Given the description of an element on the screen output the (x, y) to click on. 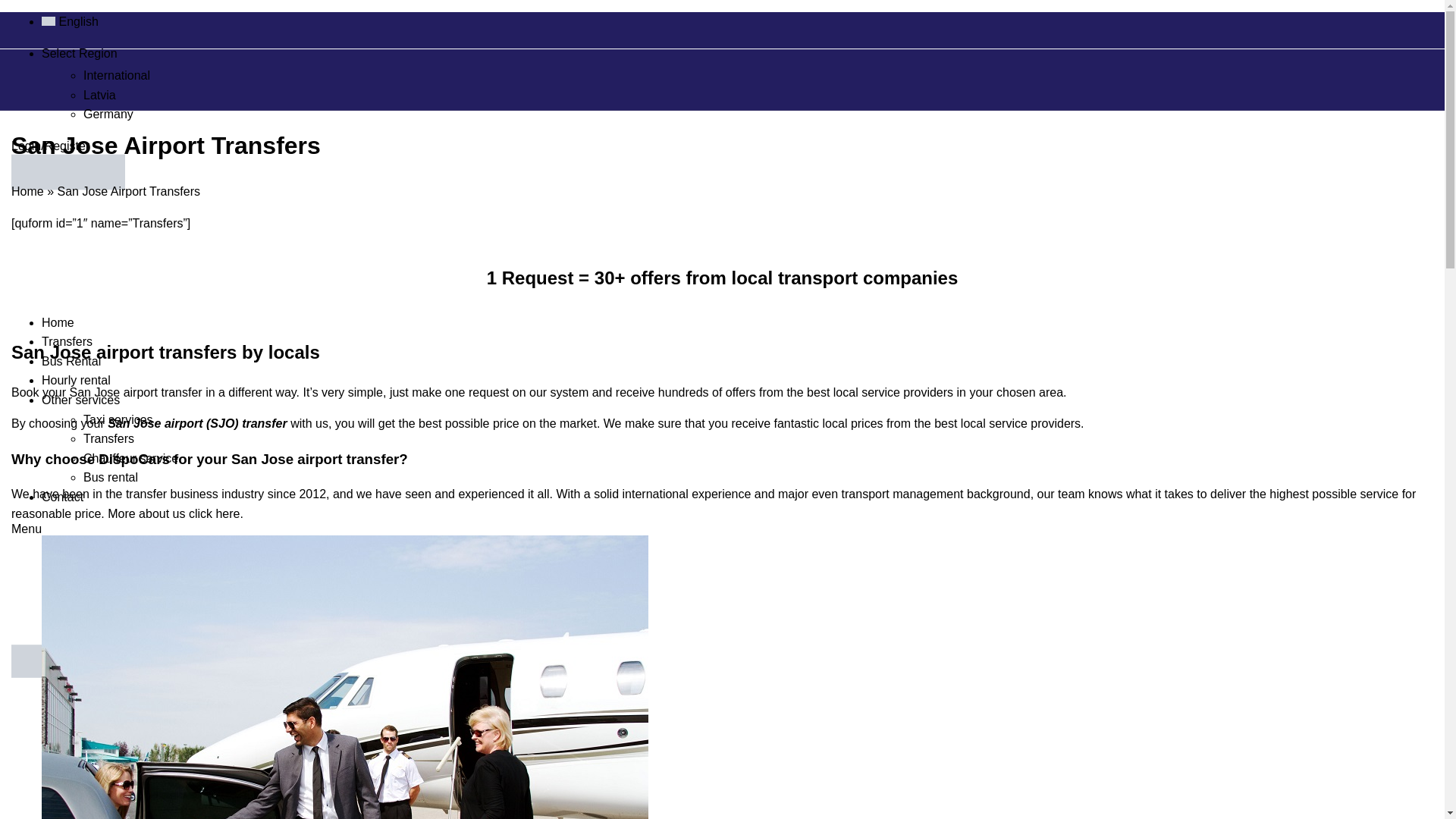
Latvia (438, 76)
Chauffeur service (465, 421)
Transfers (446, 406)
Select Region (280, 42)
Home (230, 174)
Bus Rental (272, 345)
Hourly rental (277, 360)
Germany (446, 91)
Transfers (269, 330)
Diva arrives at private jet (292, 468)
